Given the description of an element on the screen output the (x, y) to click on. 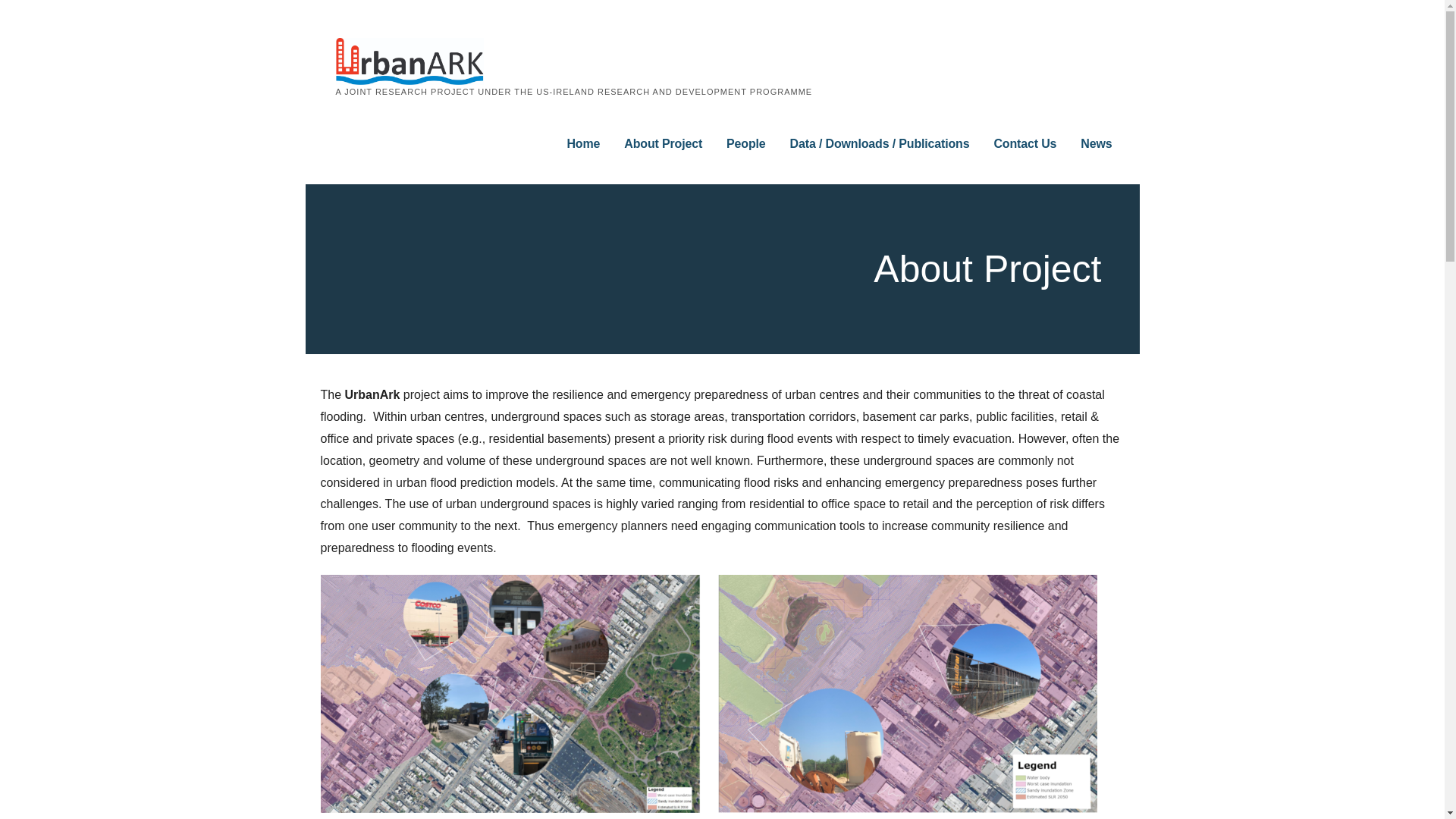
People (745, 144)
Contact Us (1024, 144)
News (1096, 144)
Home (582, 144)
About Project (662, 144)
